Given the description of an element on the screen output the (x, y) to click on. 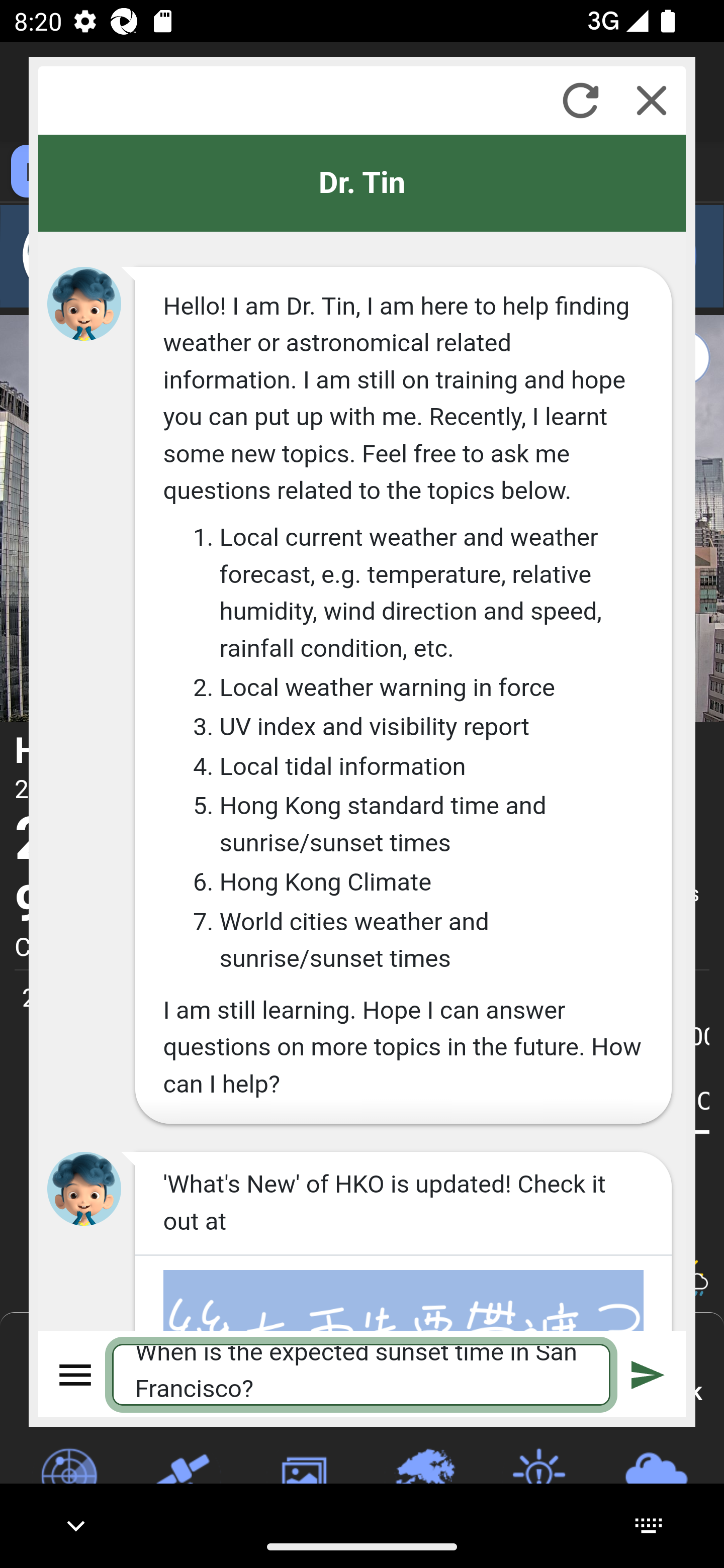
Refresh (580, 100)
Close (651, 100)
Menu (75, 1374)
Submit (648, 1374)
When is the expected sunset time in San Francisco? (361, 1374)
